Given the description of an element on the screen output the (x, y) to click on. 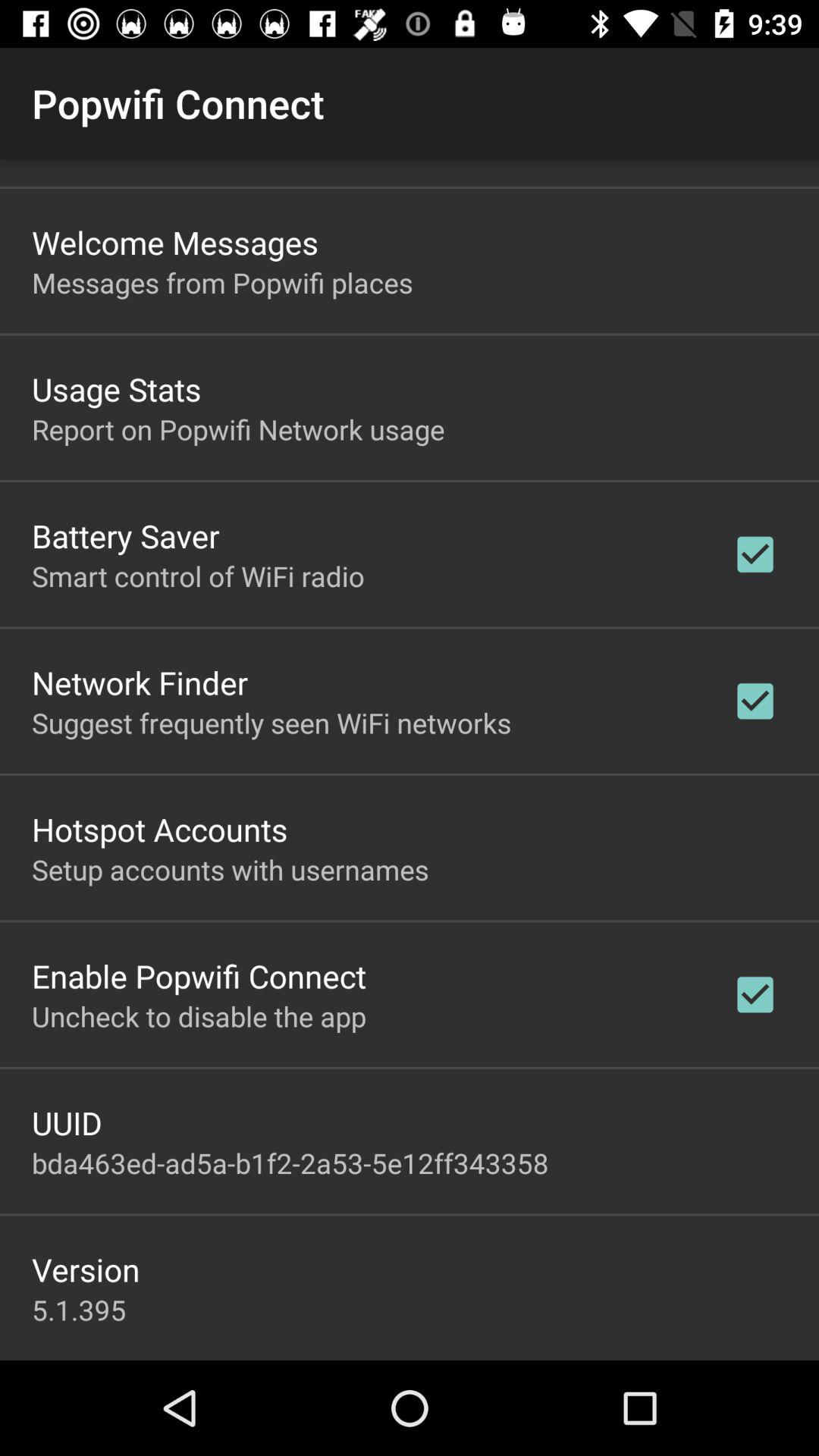
scroll until version icon (85, 1269)
